Given the description of an element on the screen output the (x, y) to click on. 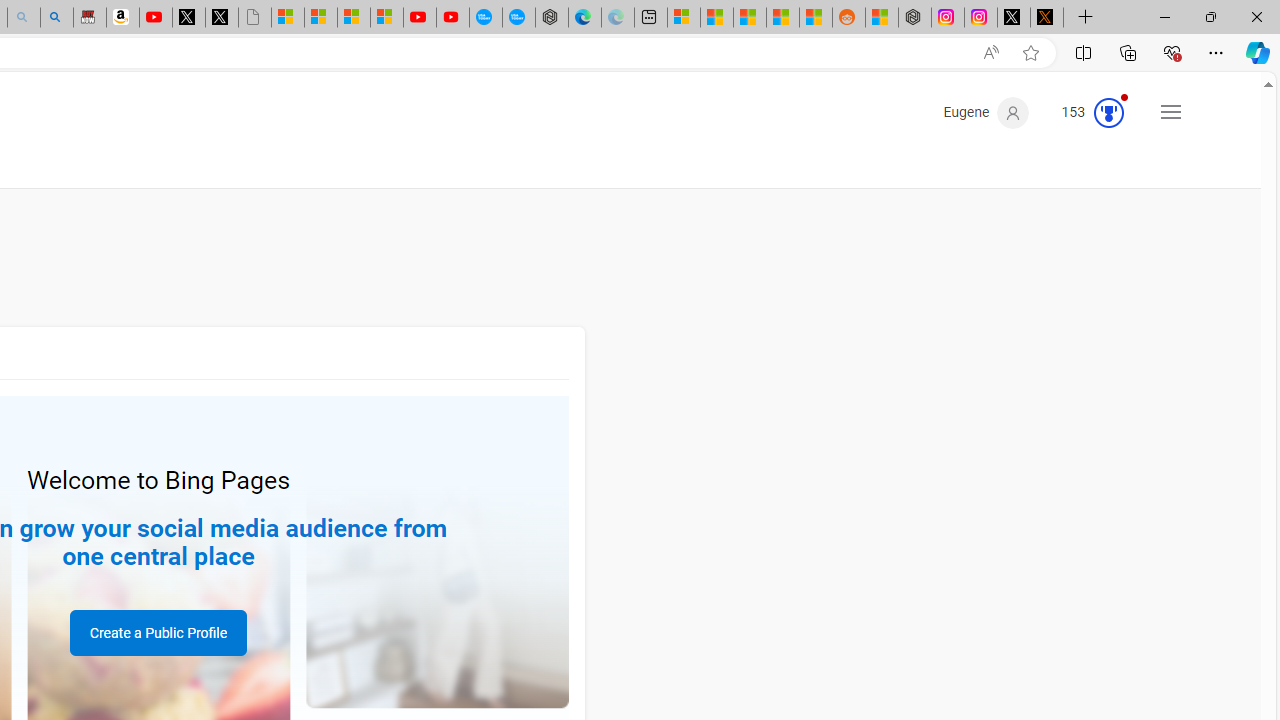
Untitled (255, 17)
help.x.com | 524: A timeout occurred (1046, 17)
Shanghai, China Weather trends | Microsoft Weather (815, 17)
The most popular Google 'how to' searches (519, 17)
YouTube Kids - An App Created for Kids to Explore Content (452, 17)
